Given the description of an element on the screen output the (x, y) to click on. 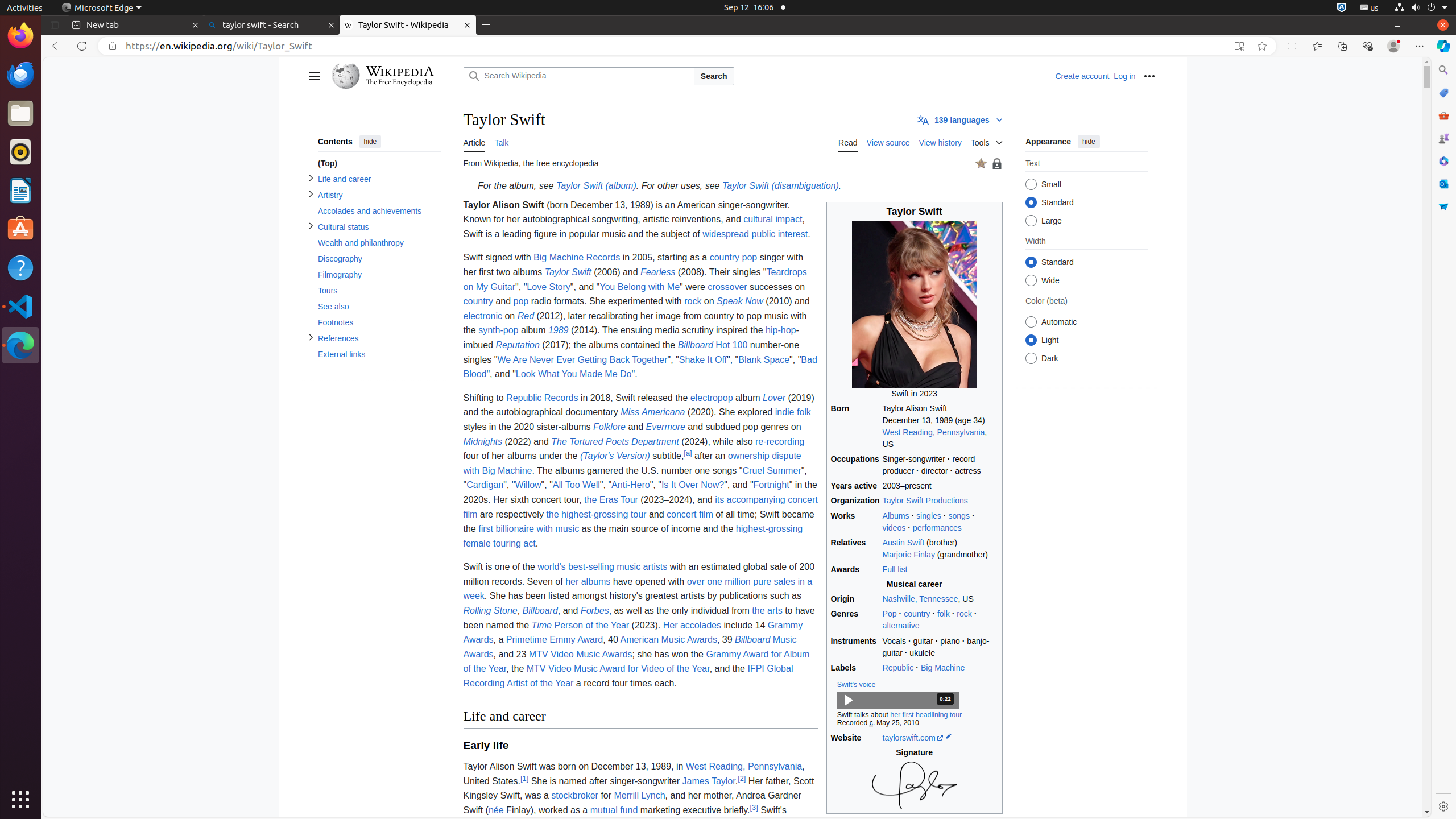
All Too Well Element type: link (576, 485)
re-recording Element type: link (779, 441)
Look What You Made Me Do Element type: link (573, 374)
System Element type: menu (1420, 7)
pop Element type: link (520, 301)
